Given the description of an element on the screen output the (x, y) to click on. 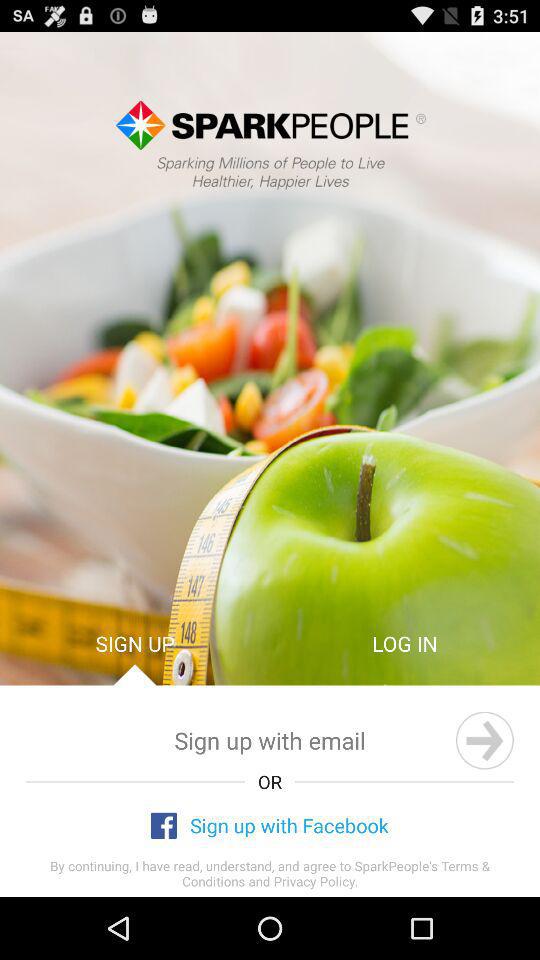
this button in next page (484, 740)
